Given the description of an element on the screen output the (x, y) to click on. 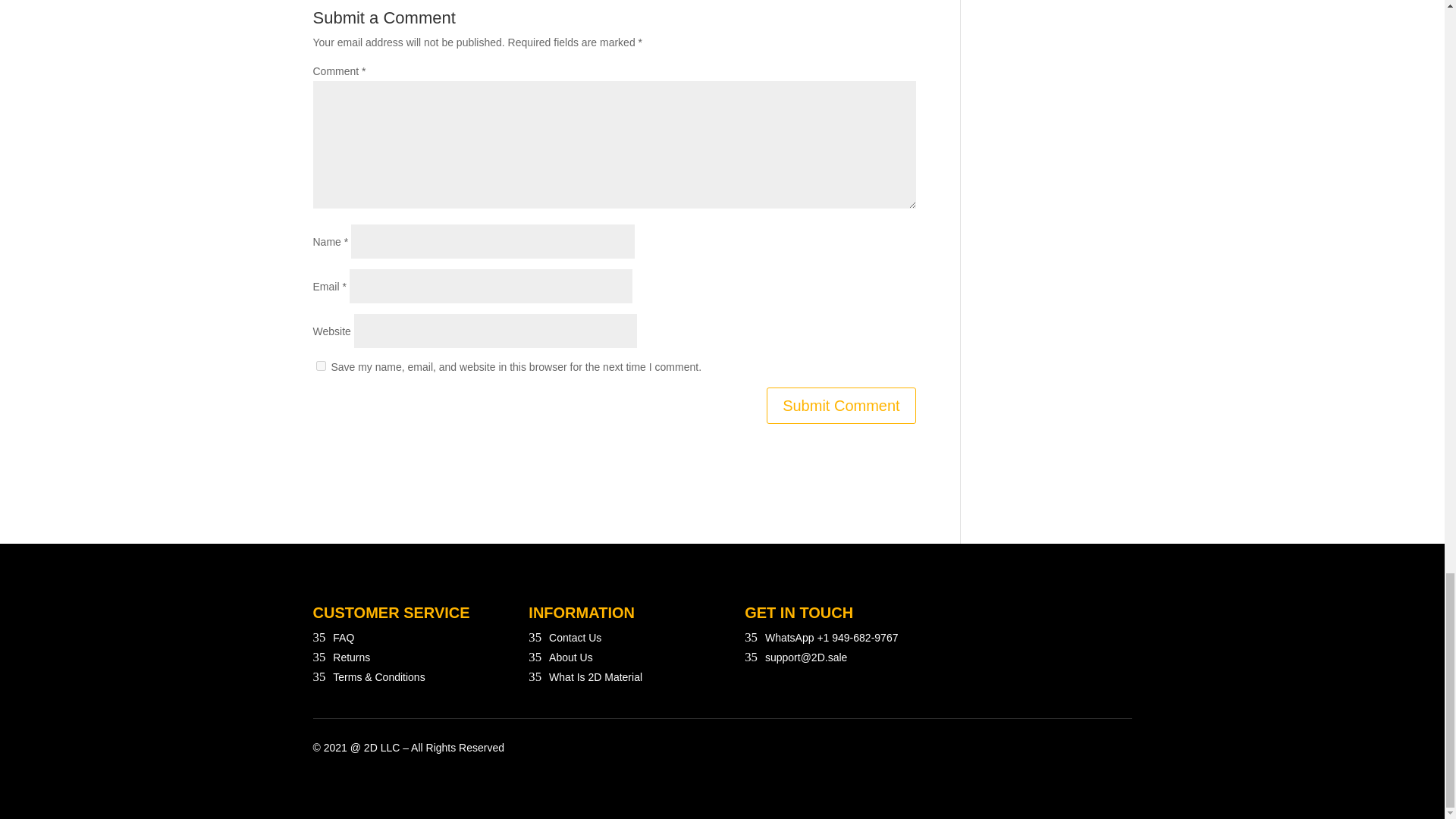
yes (319, 366)
Submit Comment (841, 405)
FAQ (343, 637)
Submit Comment (841, 405)
